Given the description of an element on the screen output the (x, y) to click on. 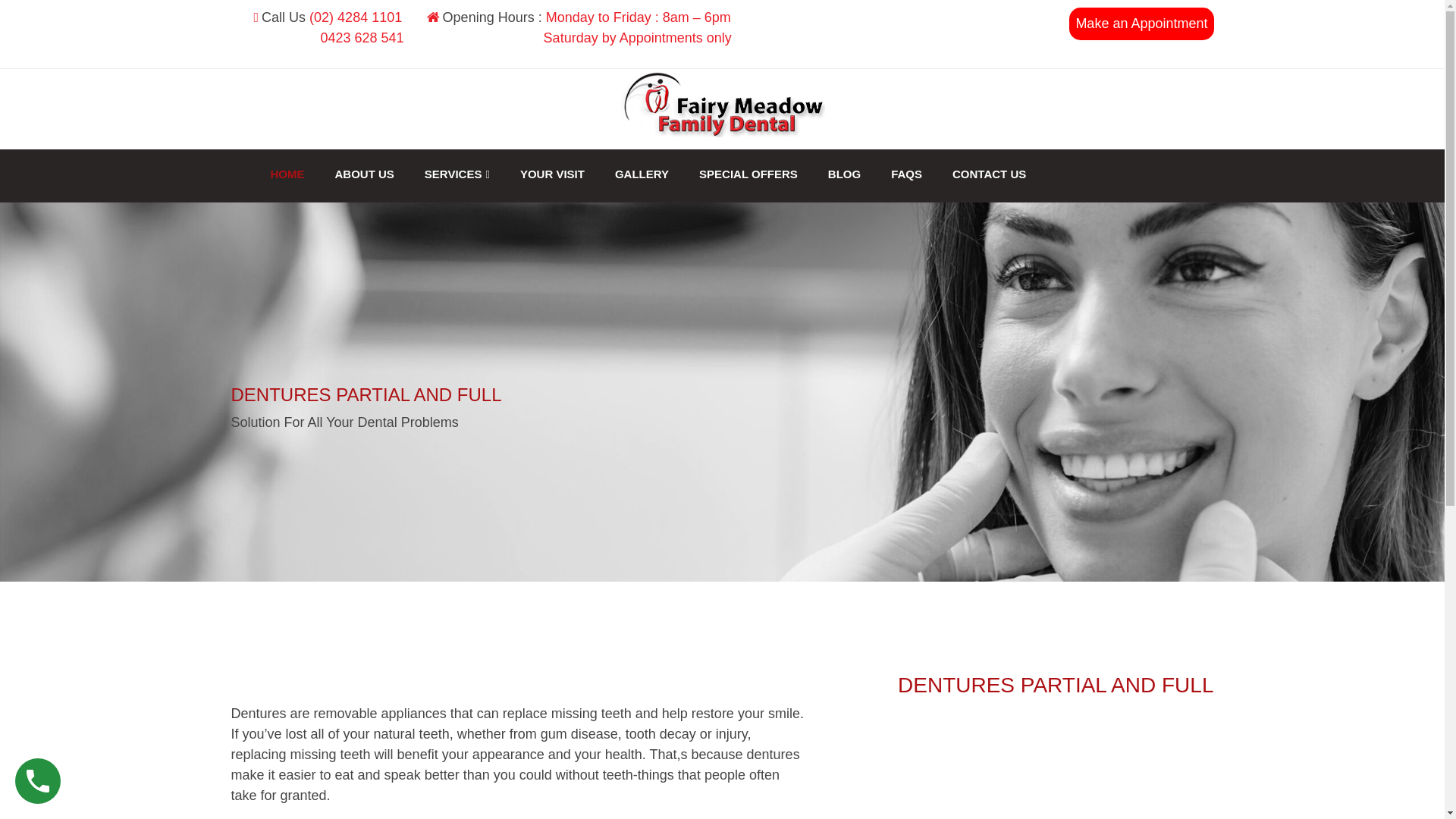
CONTACT US Element type: text (989, 174)
(02) 4284 1101 Element type: text (355, 17)
HOME Element type: text (286, 174)
YOUR VISIT Element type: text (552, 174)
SPECIAL OFFERS Element type: text (748, 174)
ABOUT US Element type: text (364, 174)
Make an Appointment Element type: text (1141, 23)
Make an Appointment Element type: text (1141, 23)
0423 628 541 Element type: text (333, 37)
FAQS Element type: text (906, 174)
BLOG Element type: text (843, 174)
GALLERY Element type: text (641, 174)
SERVICES Element type: text (457, 174)
